Given the description of an element on the screen output the (x, y) to click on. 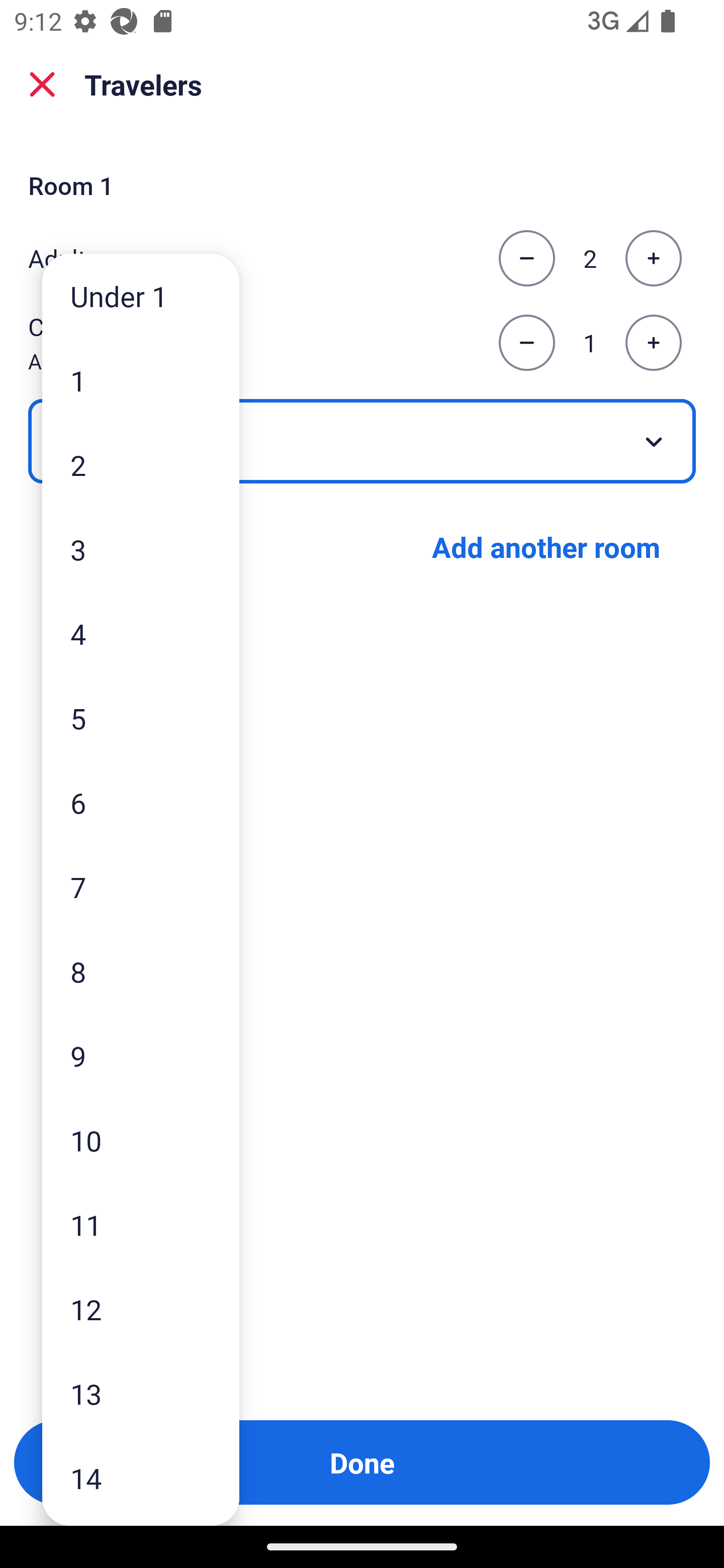
Under 1 (140, 296)
1 (140, 380)
2 (140, 464)
3 (140, 548)
4 (140, 633)
5 (140, 717)
6 (140, 802)
7 (140, 887)
8 (140, 970)
9 (140, 1054)
10 (140, 1139)
11 (140, 1224)
12 (140, 1308)
13 (140, 1393)
14 (140, 1478)
